Given the description of an element on the screen output the (x, y) to click on. 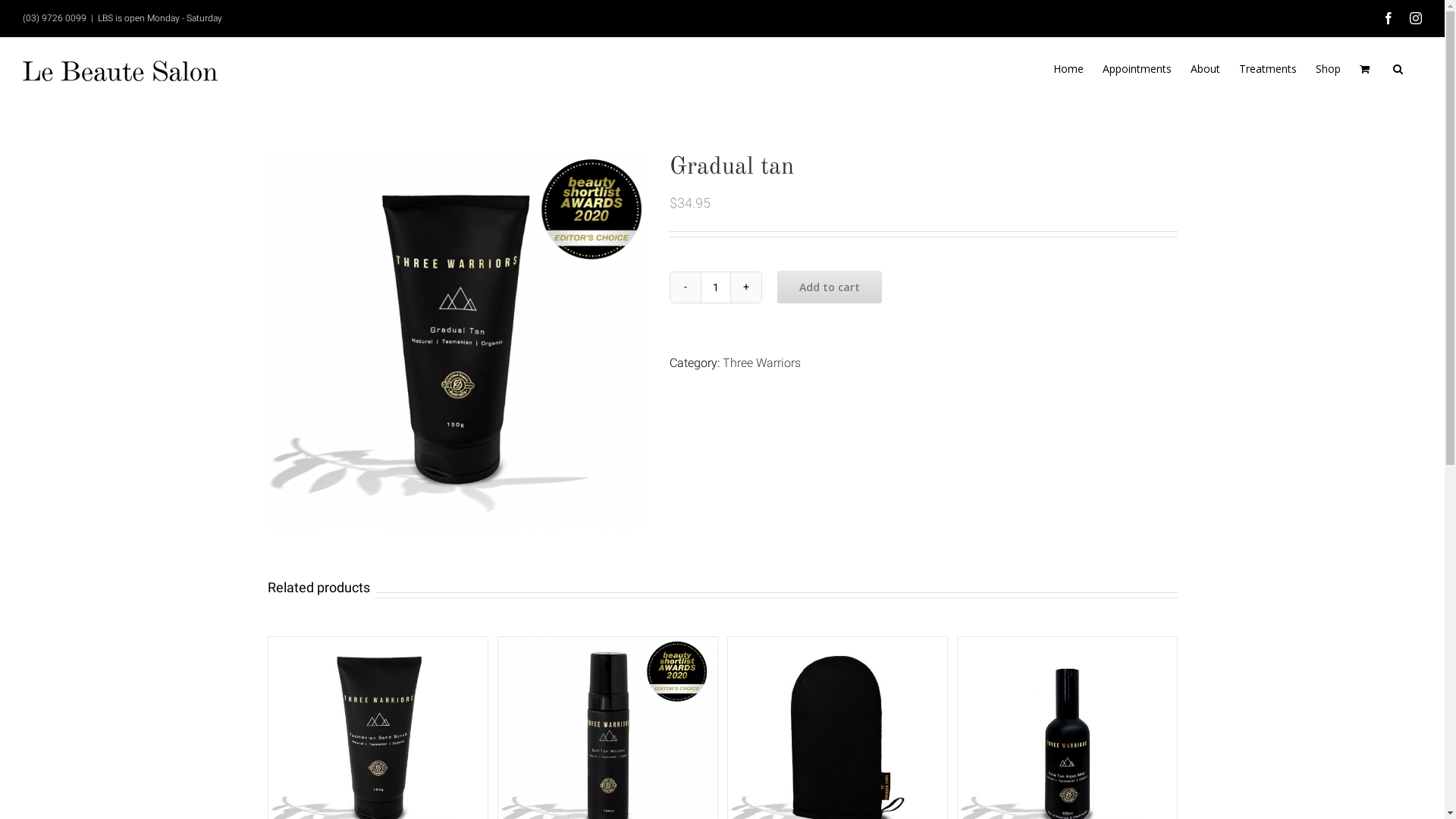
Home Element type: text (1068, 68)
gradual_400x400 Element type: hover (456, 341)
Treatments Element type: text (1267, 68)
Three Warriors Element type: text (760, 362)
Instagram Element type: text (1415, 18)
Appointments Element type: text (1136, 68)
Facebook Element type: text (1388, 18)
LBS is open Monday - Saturday Element type: text (159, 17)
About Element type: text (1205, 68)
Shop Element type: text (1327, 68)
Add to cart Element type: text (828, 286)
Qty Element type: hover (715, 287)
Search Element type: hover (1397, 68)
